Given the description of an element on the screen output the (x, y) to click on. 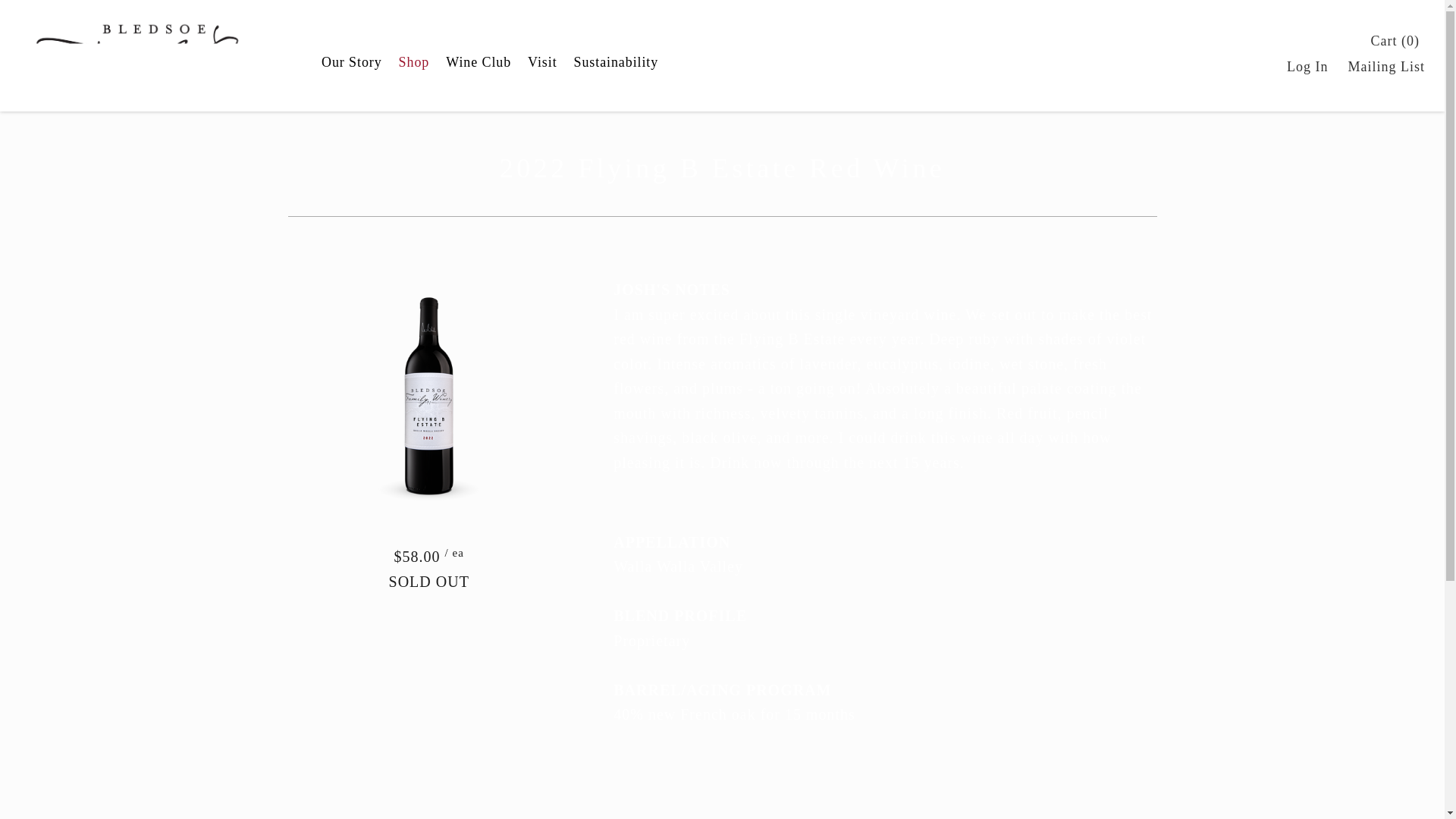
Wine Club (478, 61)
Mailing List (1386, 66)
Log In (1307, 66)
Visit (542, 61)
Our Story (351, 61)
Cart 0 items: (1396, 40)
Sustainability (616, 61)
Shop (413, 61)
